Given the description of an element on the screen output the (x, y) to click on. 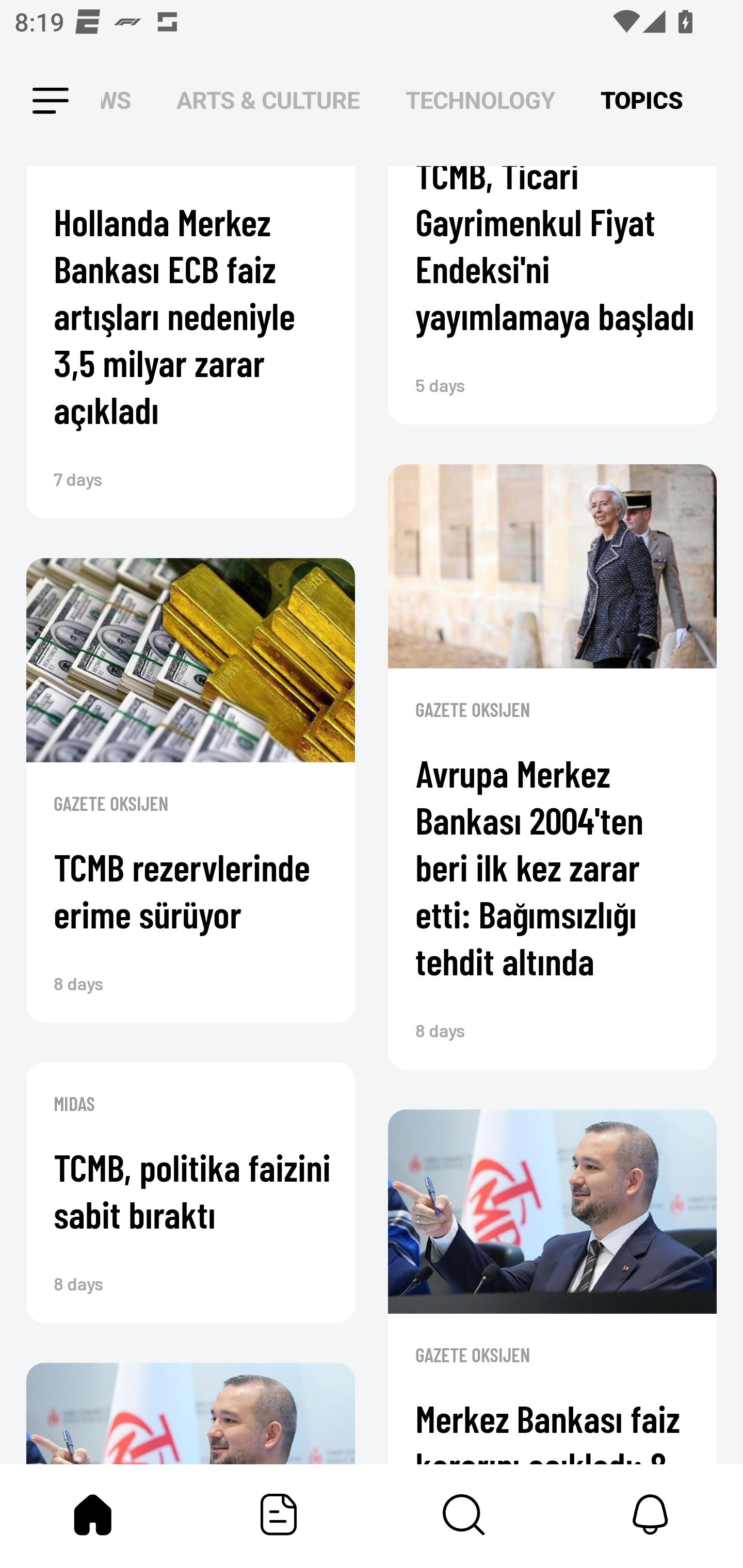
NEWS (121, 100)
ARTS & CULTURE (268, 100)
TECHNOLOGY (480, 100)
Featured (278, 1514)
Content Store (464, 1514)
Notifications (650, 1514)
